Given the description of an element on the screen output the (x, y) to click on. 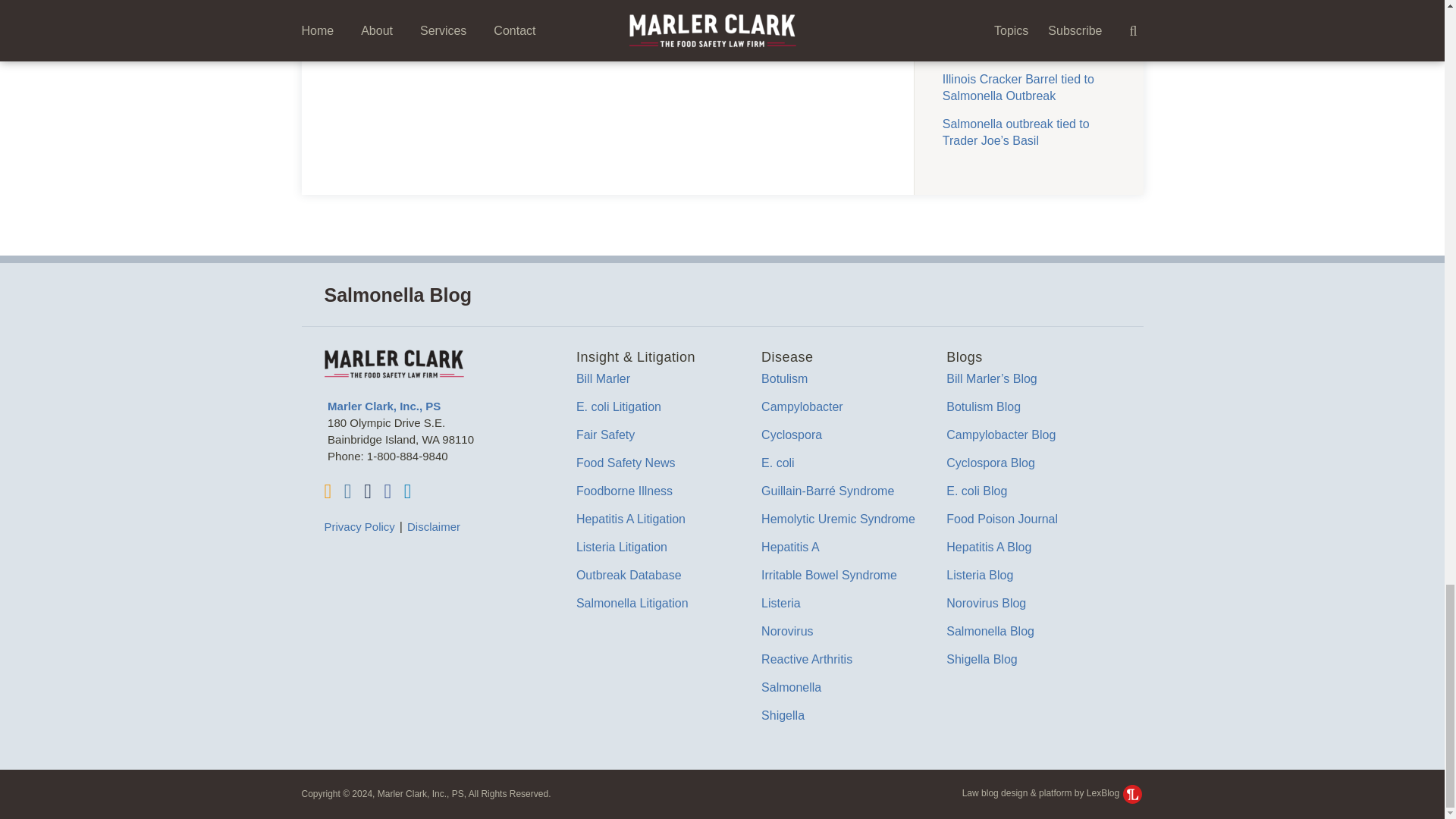
LexBlog Logo (1131, 793)
